Given the description of an element on the screen output the (x, y) to click on. 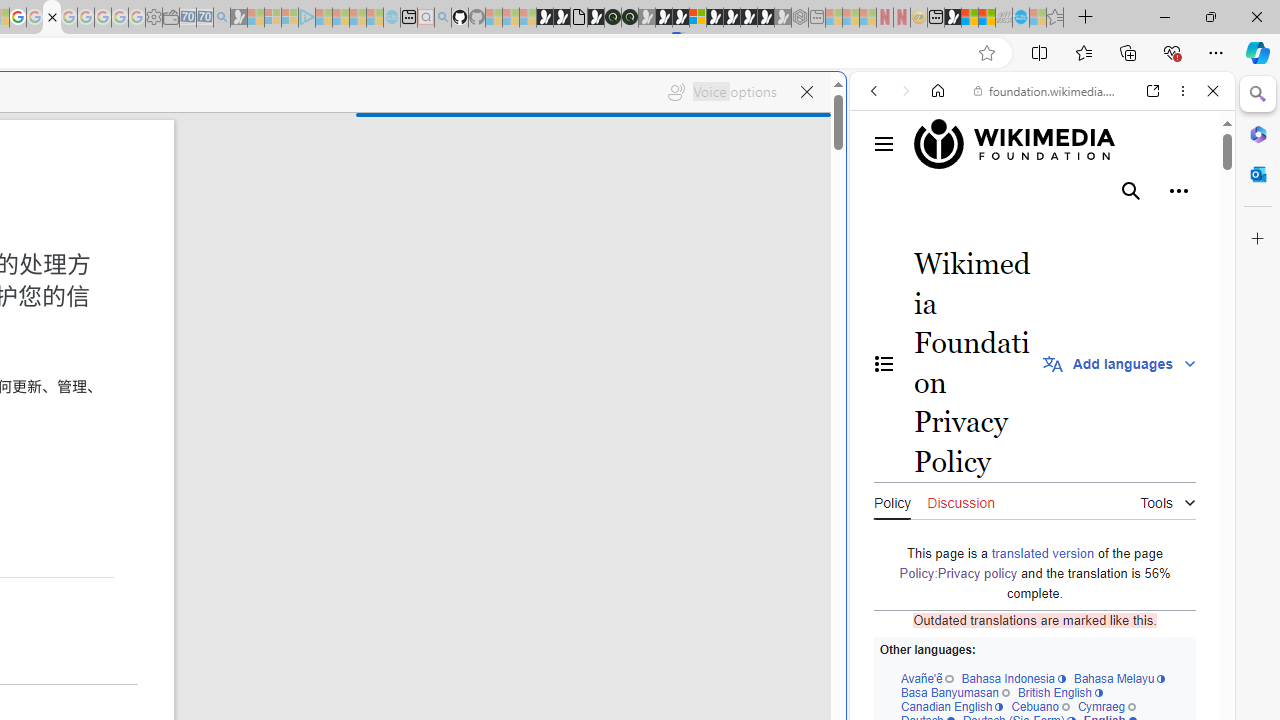
Policy (892, 500)
Web scope (882, 180)
Cymraeg (1106, 706)
Bahasa Indonesia (1013, 678)
Basa Banyumasan (954, 691)
This site scope (936, 180)
Preferences (1189, 228)
Bahasa Melayu (1119, 678)
Play Free Online Games | Games from Microsoft Start (731, 17)
